Given the description of an element on the screen output the (x, y) to click on. 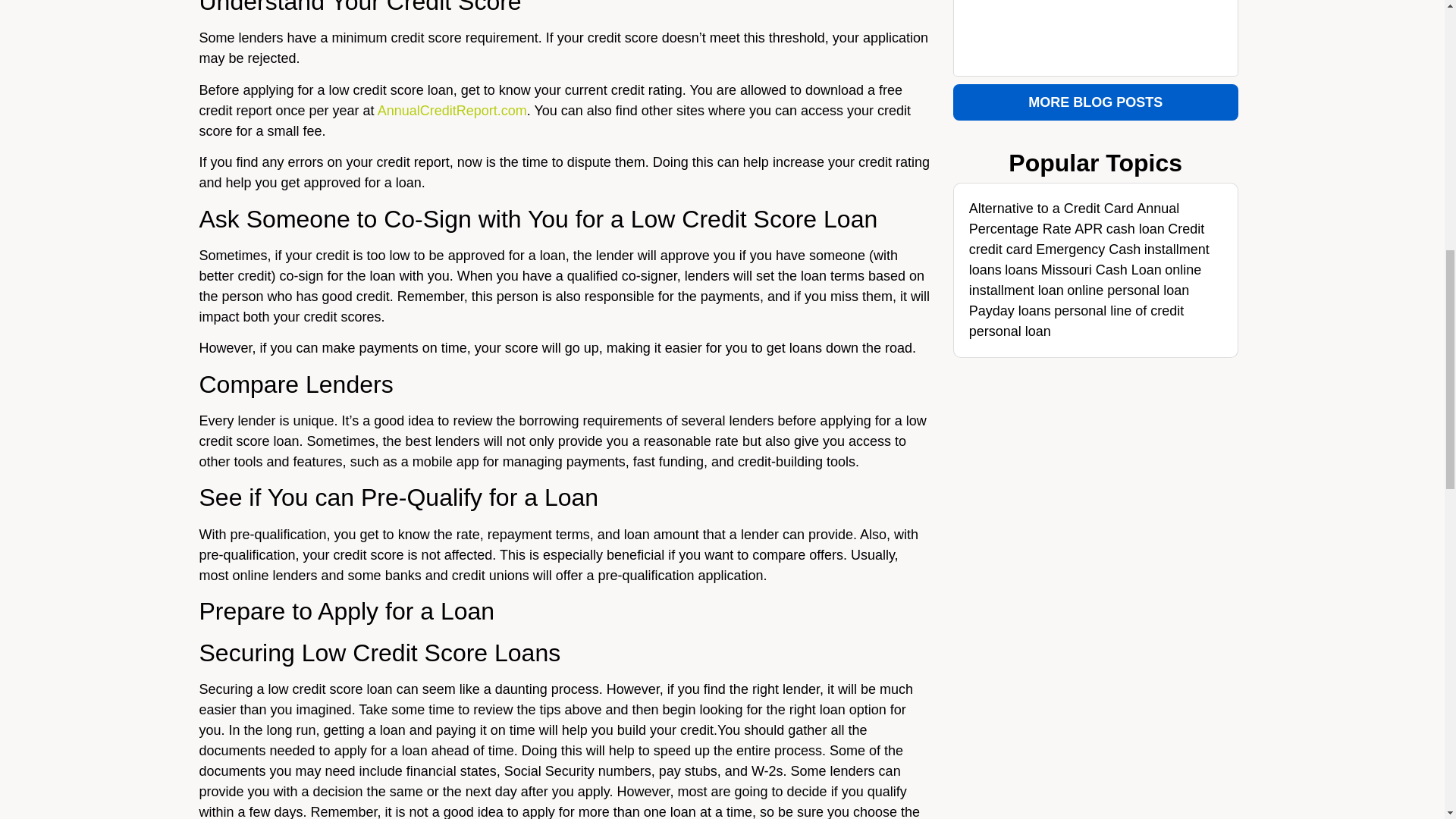
Annual Percentage Rate (1074, 218)
AnnualCreditReport.com (452, 110)
Alternative to a Credit Card (1051, 208)
MORE BLOG POSTS (1096, 102)
APR (1088, 228)
